Given the description of an element on the screen output the (x, y) to click on. 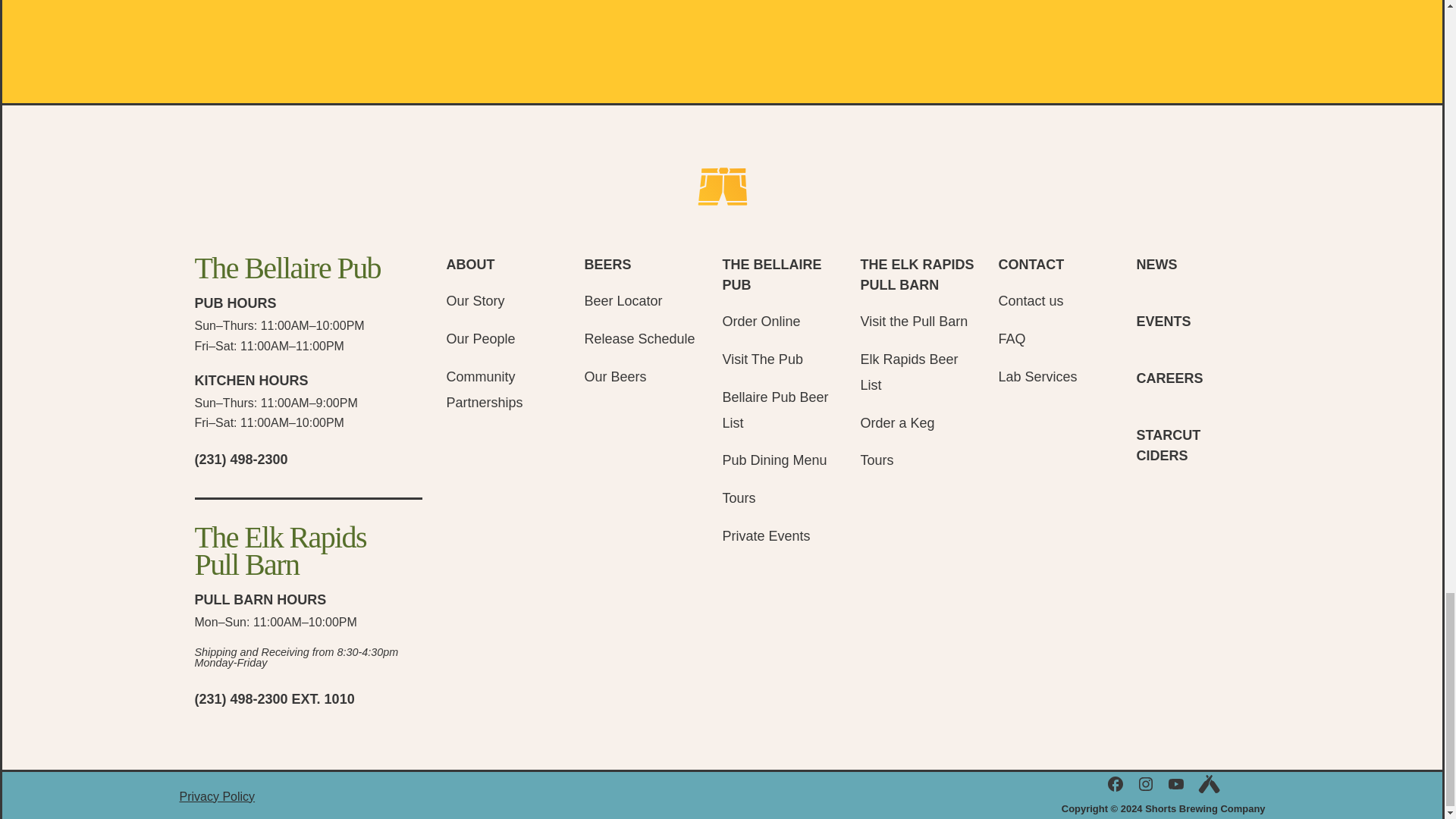
Youtube (1176, 783)
Untappd (1208, 783)
Facebook (1115, 783)
Instagram (1145, 783)
